Given the description of an element on the screen output the (x, y) to click on. 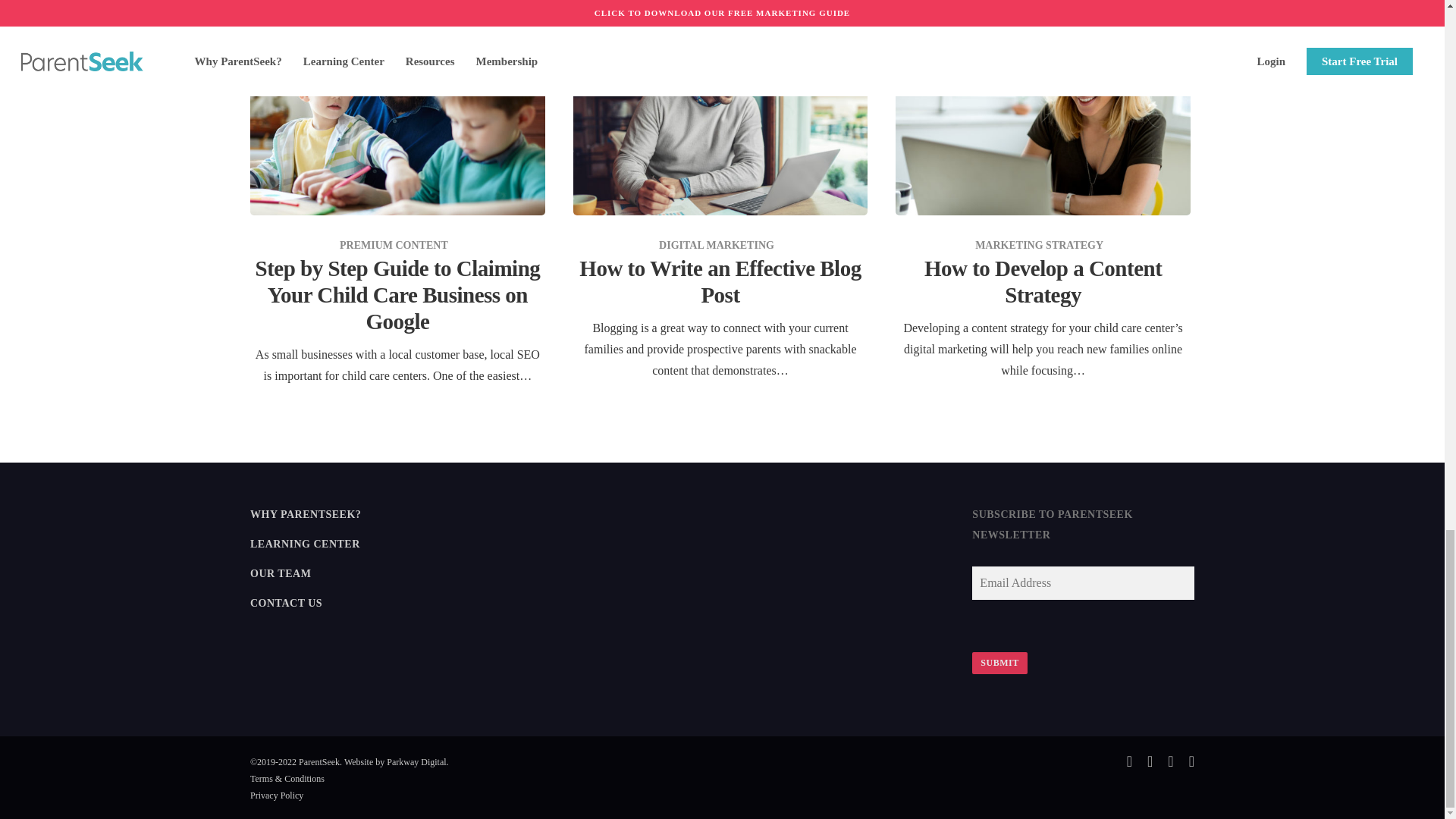
DIGITAL MARKETING (716, 244)
Submit (999, 662)
PREMIUM CONTENT (393, 244)
